Given the description of an element on the screen output the (x, y) to click on. 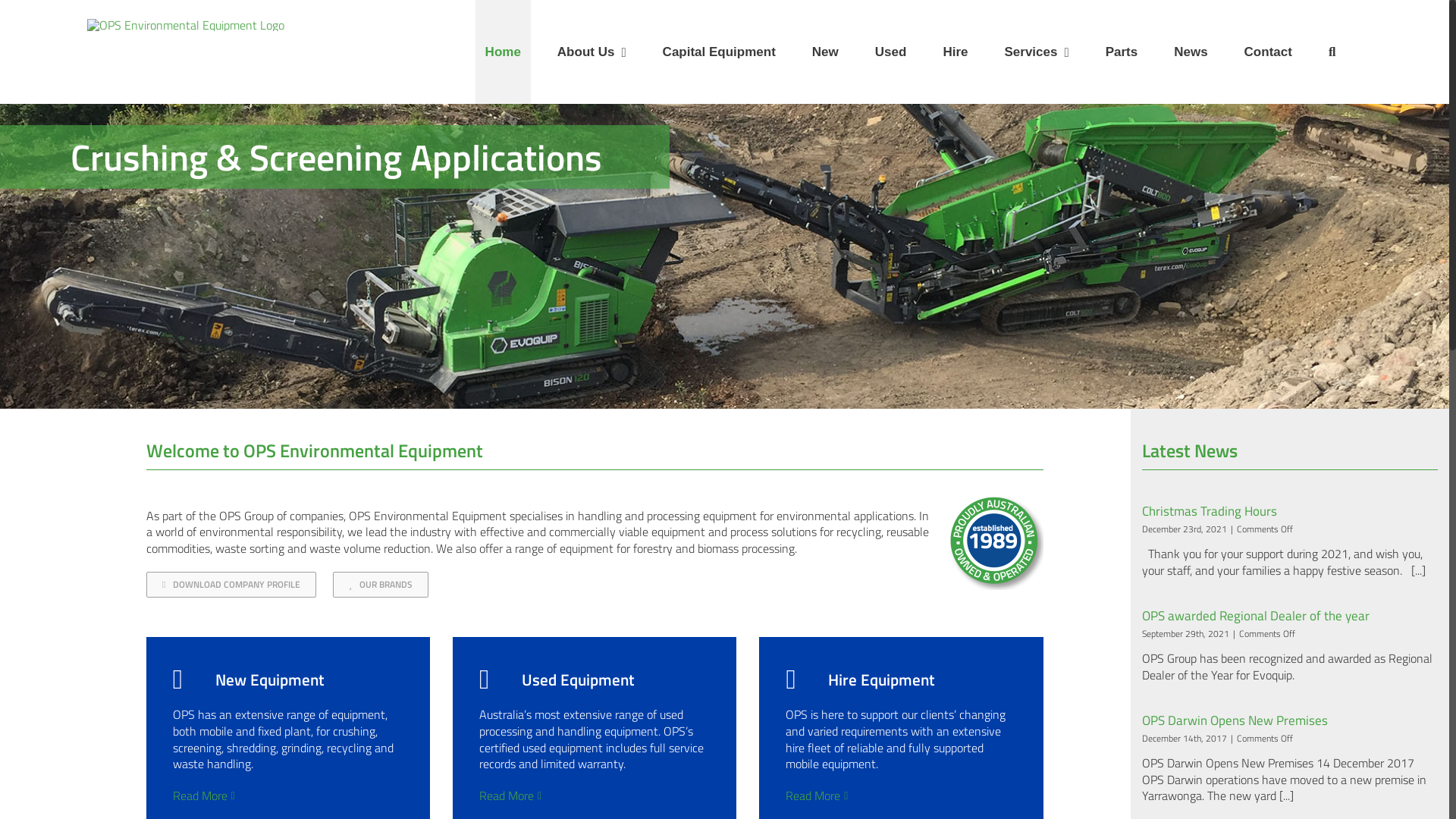
News Element type: text (1190, 51)
OPS Darwin Opens New Premises Element type: text (1234, 720)
Hire Element type: text (954, 51)
Christmas Trading Hours Element type: text (1209, 510)
Read More Element type: text (506, 795)
About Us Element type: text (591, 51)
Read More Element type: text (812, 795)
Contact Element type: text (1268, 51)
OUR BRANDS Element type: text (380, 584)
Parts Element type: text (1121, 51)
Search Element type: hover (1331, 51)
Used Equipment Element type: text (556, 679)
Used Element type: text (890, 51)
New Equipment Element type: text (248, 679)
Services Element type: text (1036, 51)
OPS awarded Regional Dealer of the year Element type: text (1255, 615)
DOWNLOAD COMPANY PROFILE Element type: text (231, 584)
New Element type: text (825, 51)
Hire Equipment Element type: text (860, 679)
Capital Equipment Element type: text (718, 51)
Home Element type: text (502, 51)
Read More Element type: text (199, 795)
